Given the description of an element on the screen output the (x, y) to click on. 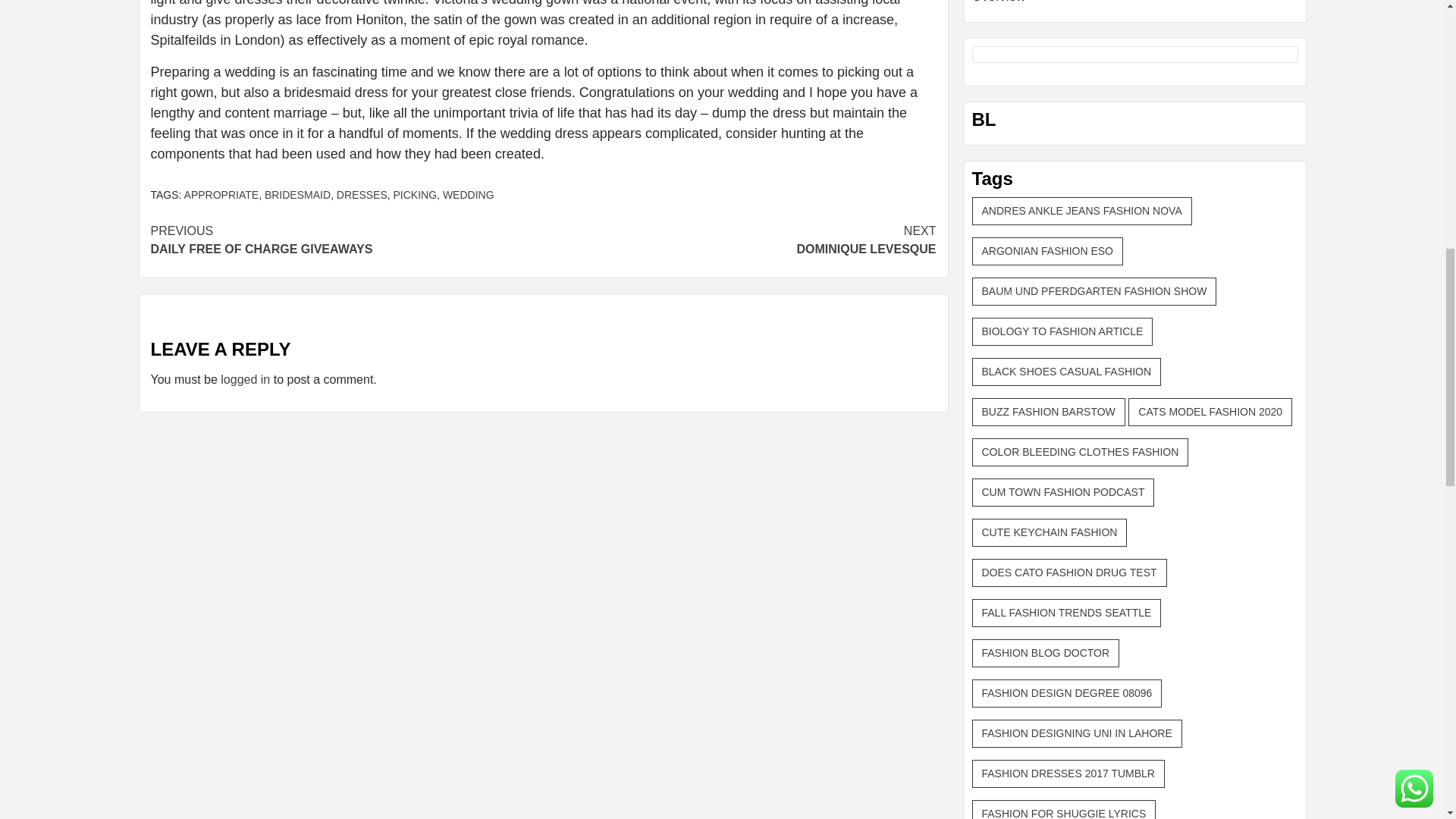
APPROPRIATE (221, 194)
DRESSES (346, 239)
WEDDING (361, 194)
BRIDESMAID (468, 194)
PICKING (297, 194)
logged in (739, 239)
